Given the description of an element on the screen output the (x, y) to click on. 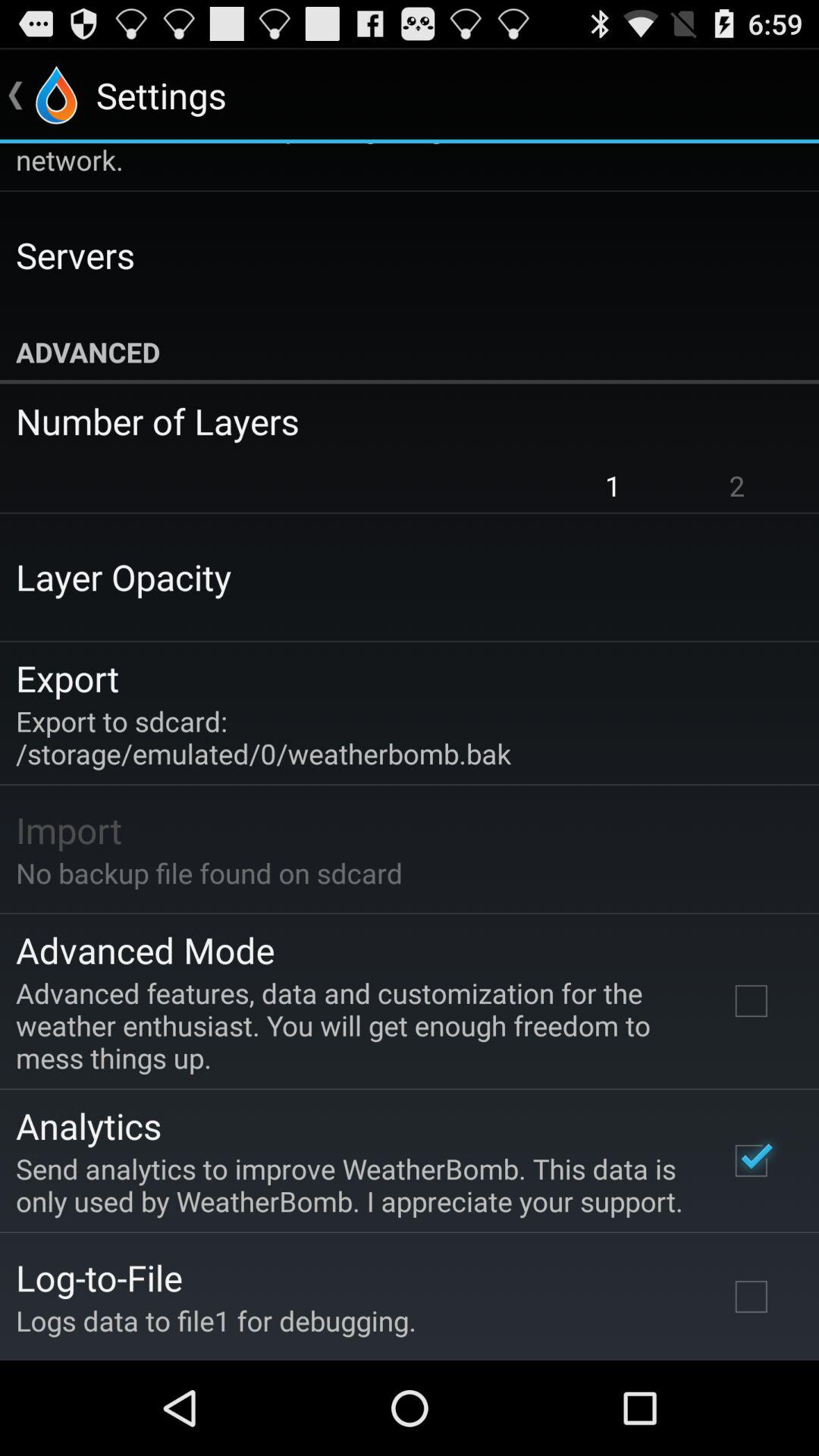
flip until advanced mode app (144, 949)
